Given the description of an element on the screen output the (x, y) to click on. 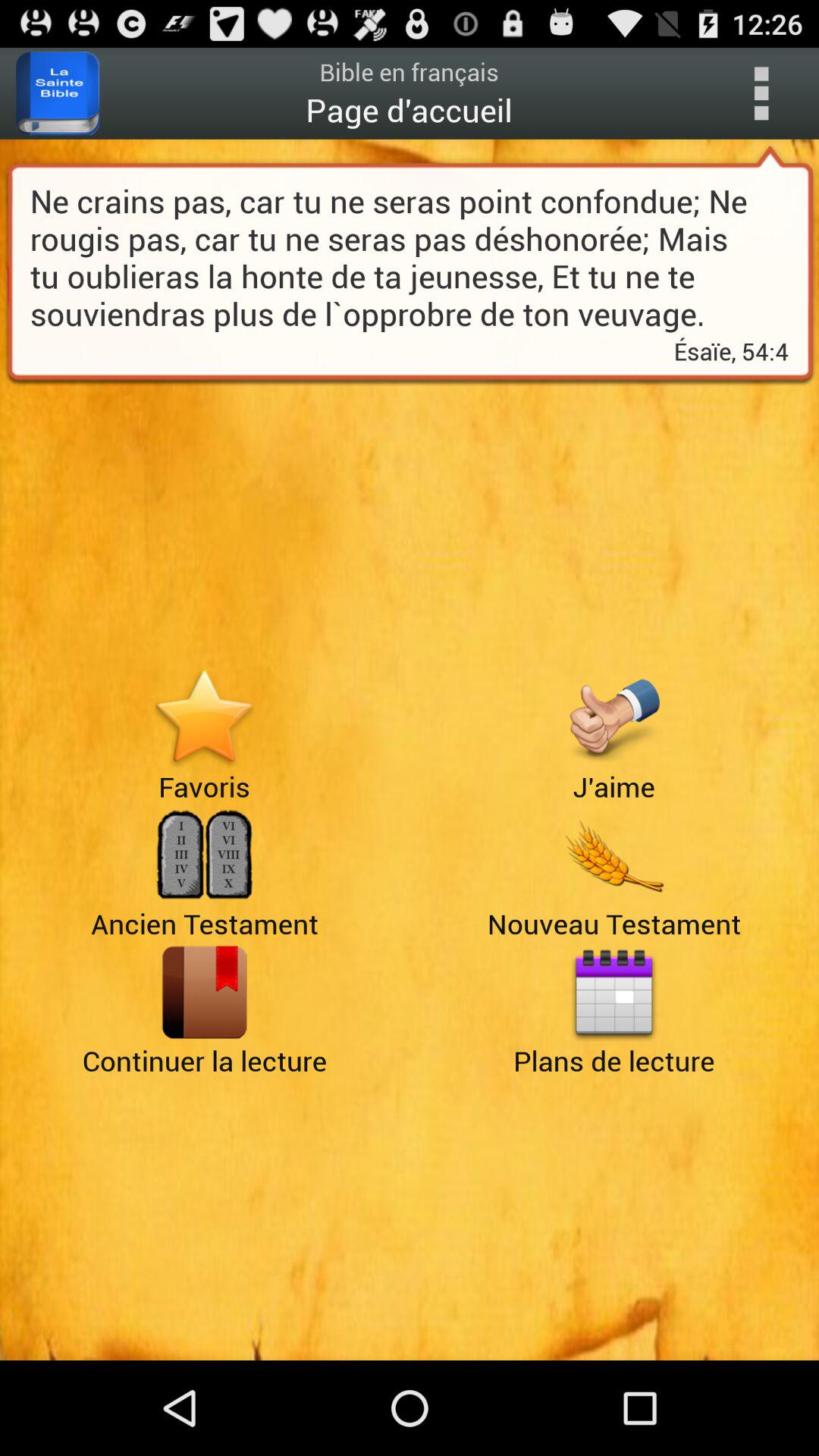
load the learning function (204, 991)
